Given the description of an element on the screen output the (x, y) to click on. 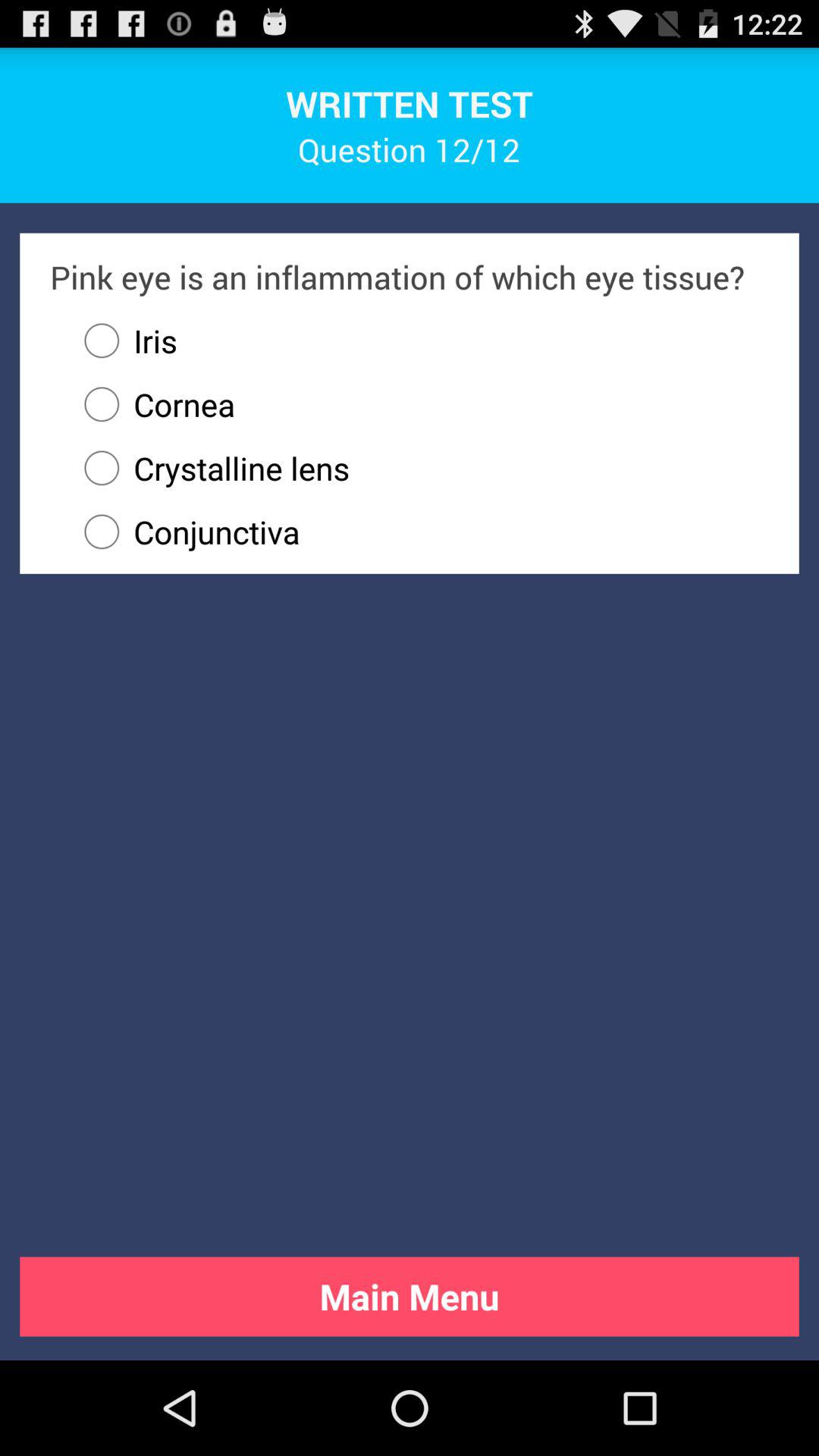
jump until conjunctiva icon (418, 531)
